Given the description of an element on the screen output the (x, y) to click on. 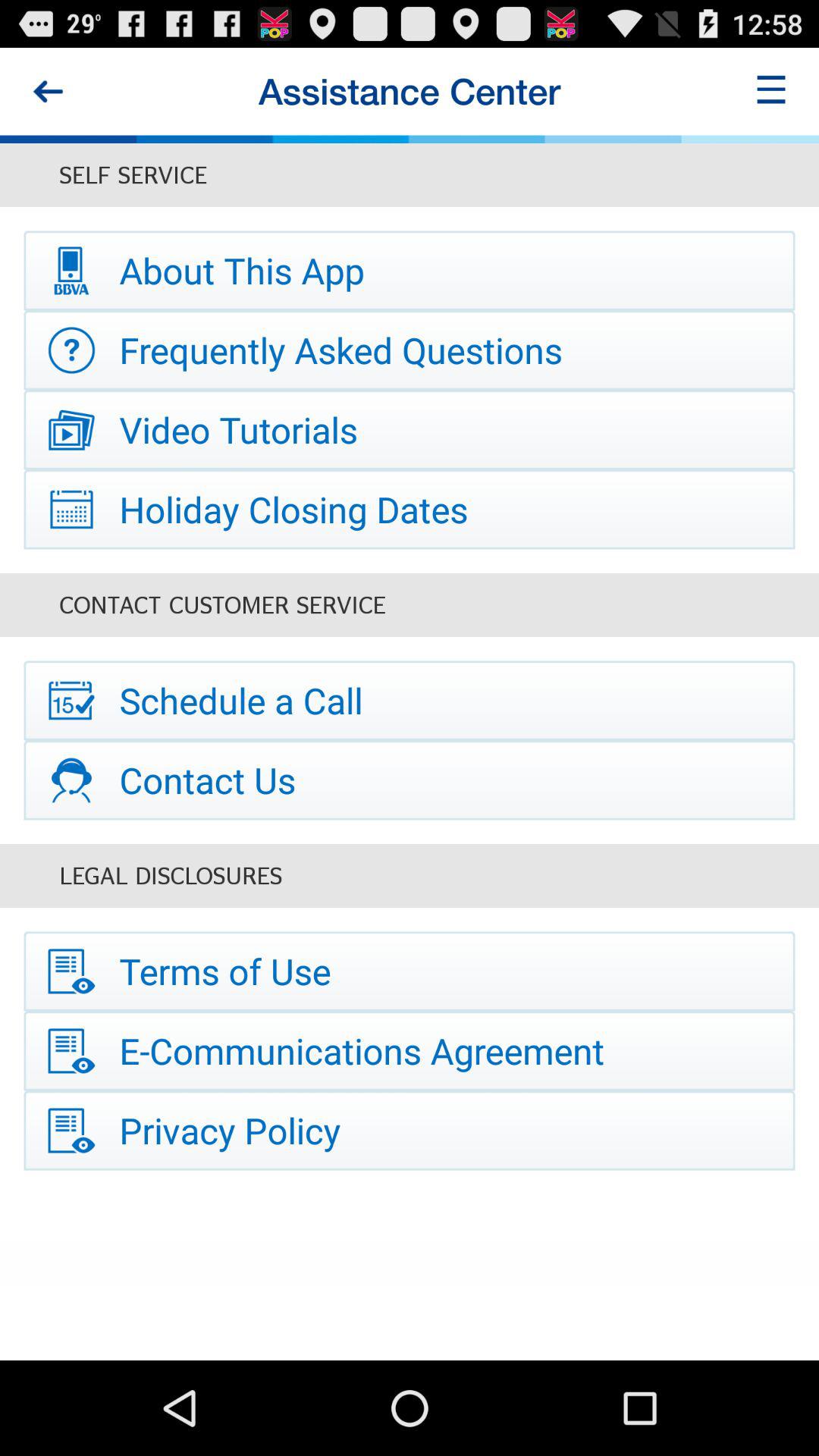
turn off the icon at the top left corner (47, 91)
